Given the description of an element on the screen output the (x, y) to click on. 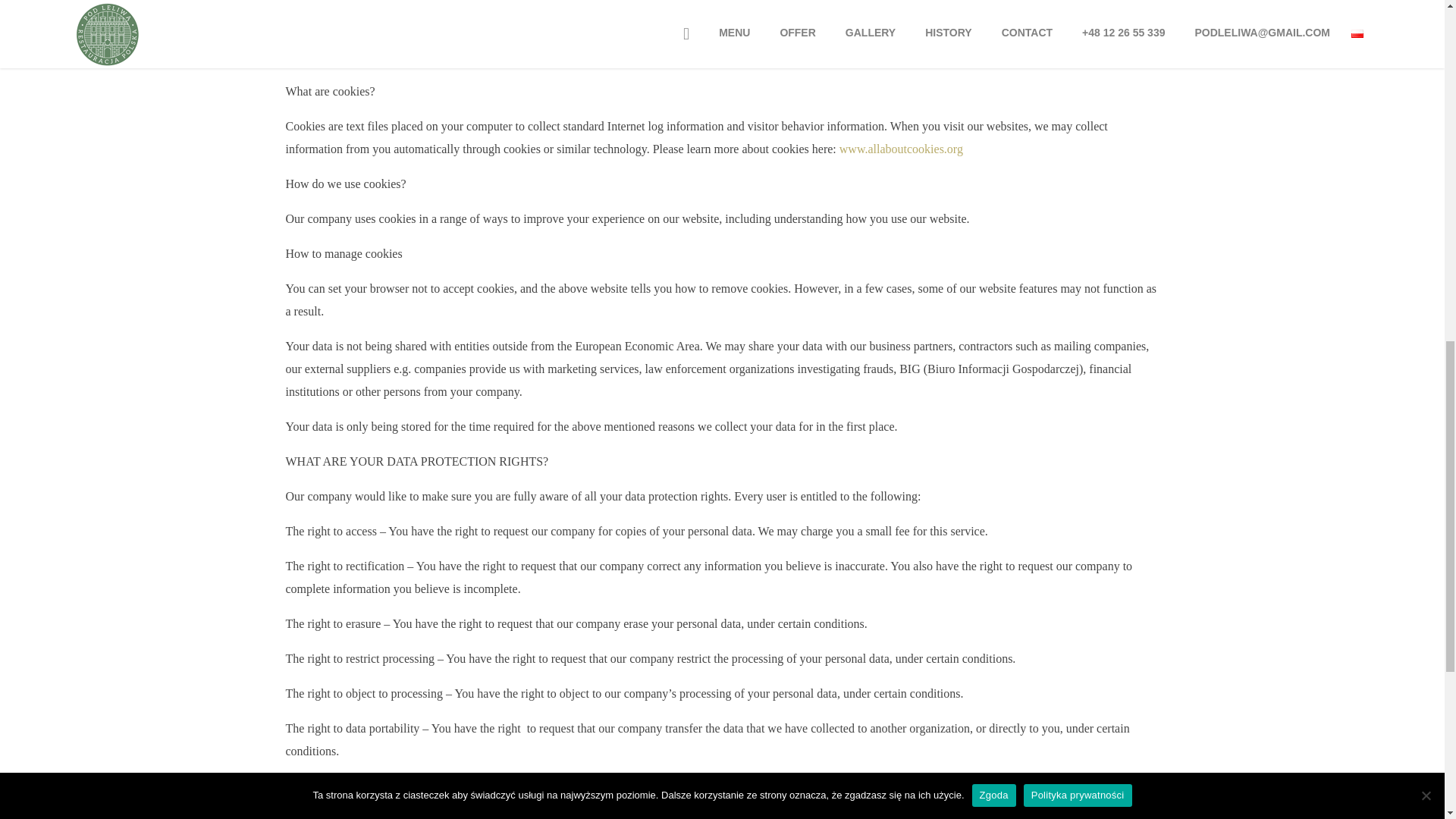
www.allaboutcookies.org (901, 148)
